Given the description of an element on the screen output the (x, y) to click on. 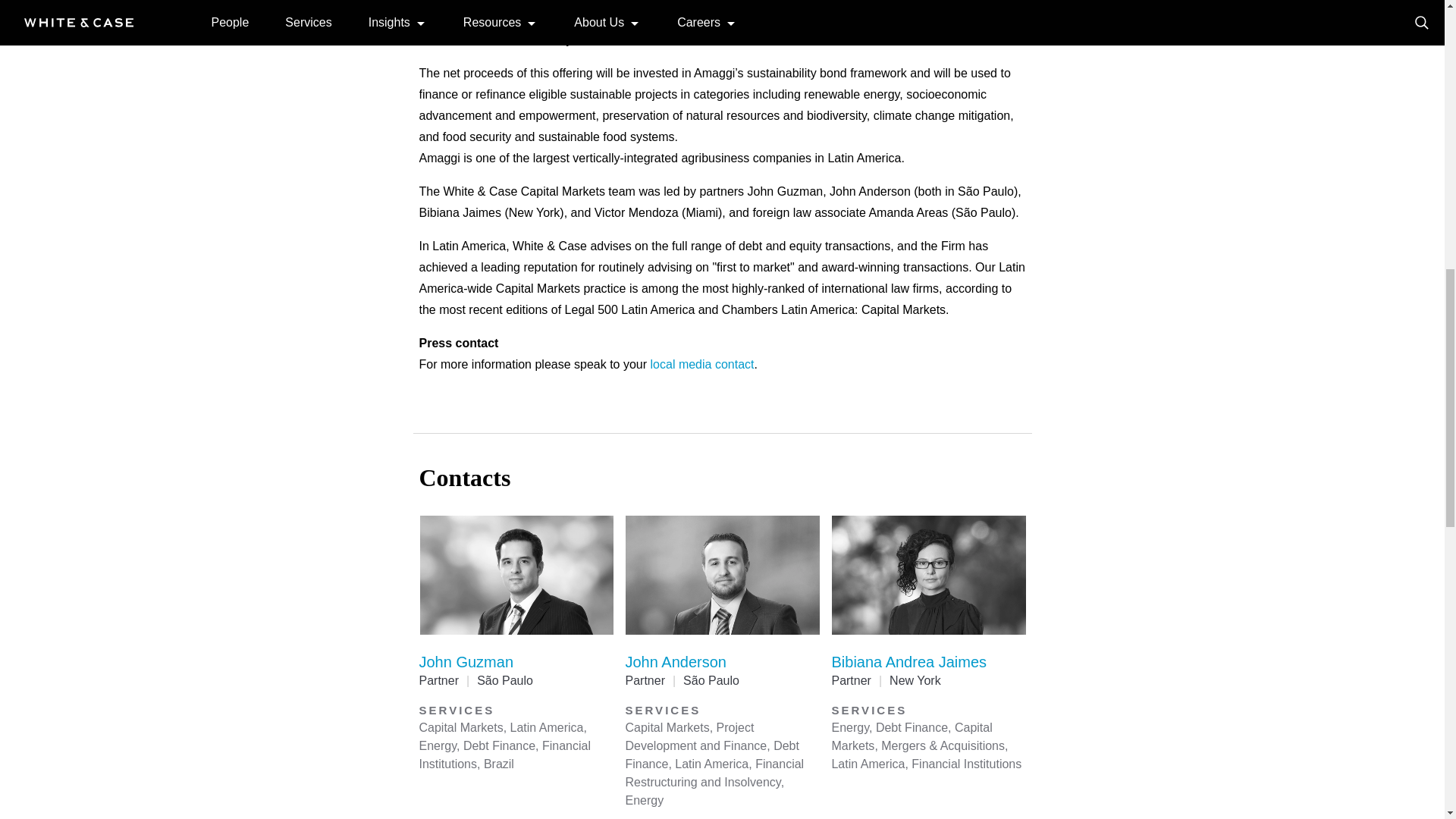
Bibiana Andrea Jaimes (909, 661)
John Guzman (466, 661)
local media contact (702, 364)
John Anderson (674, 661)
